Given the description of an element on the screen output the (x, y) to click on. 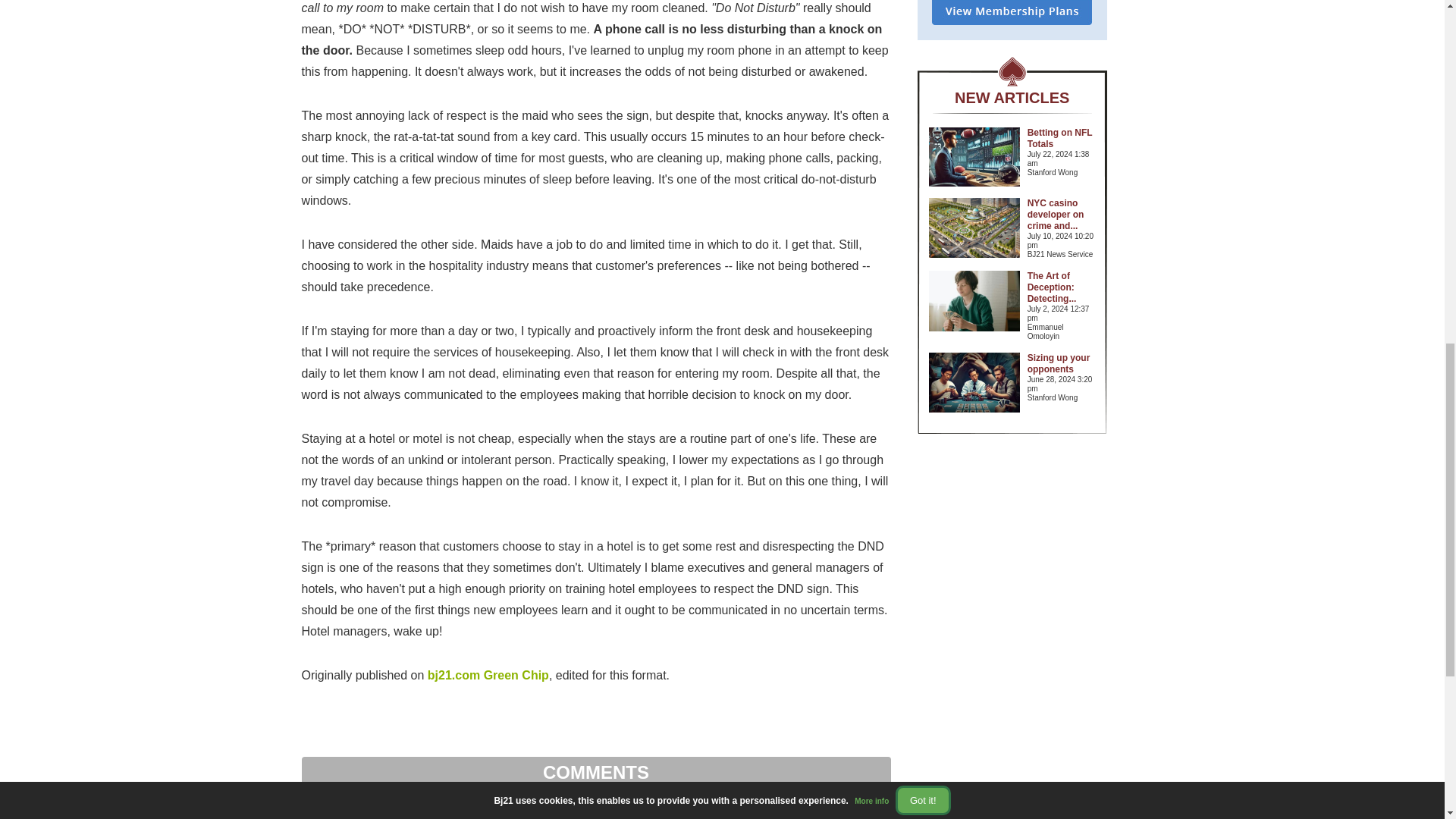
Stanford Wong (1061, 397)
Stanford Wong (1061, 172)
Sizing up your opponents (1058, 363)
NYC casino developer on crime and traffic (1055, 214)
Emmanuel Omoloyin (1061, 331)
Betting on NFL Totals (1060, 138)
BJ21 News Service (1061, 254)
